Given the description of an element on the screen output the (x, y) to click on. 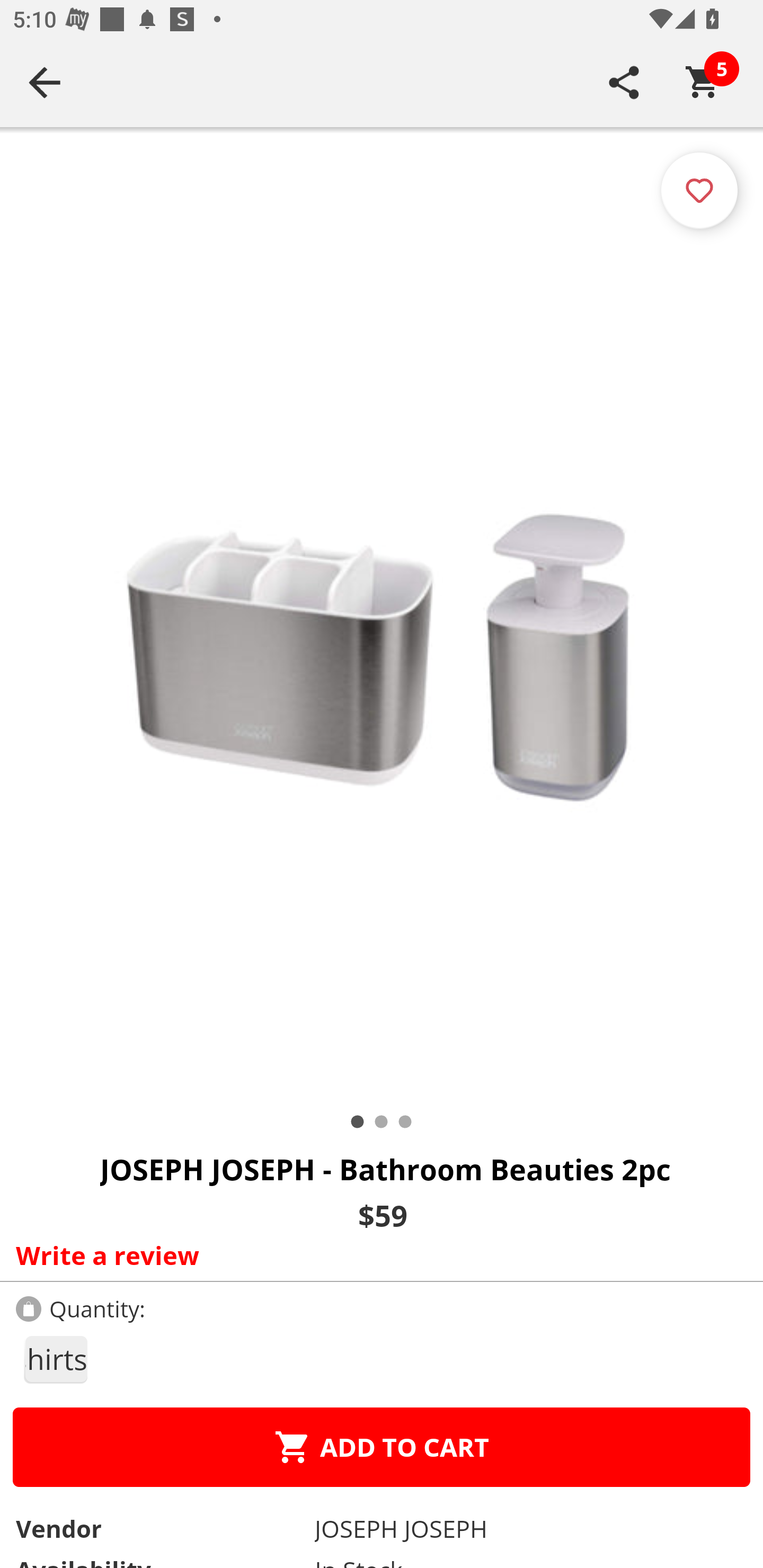
Navigate up (44, 82)
SHARE (623, 82)
Cart (703, 81)
Write a review (377, 1255)
1man shirts (55, 1358)
ADD TO CART (381, 1447)
